Given the description of an element on the screen output the (x, y) to click on. 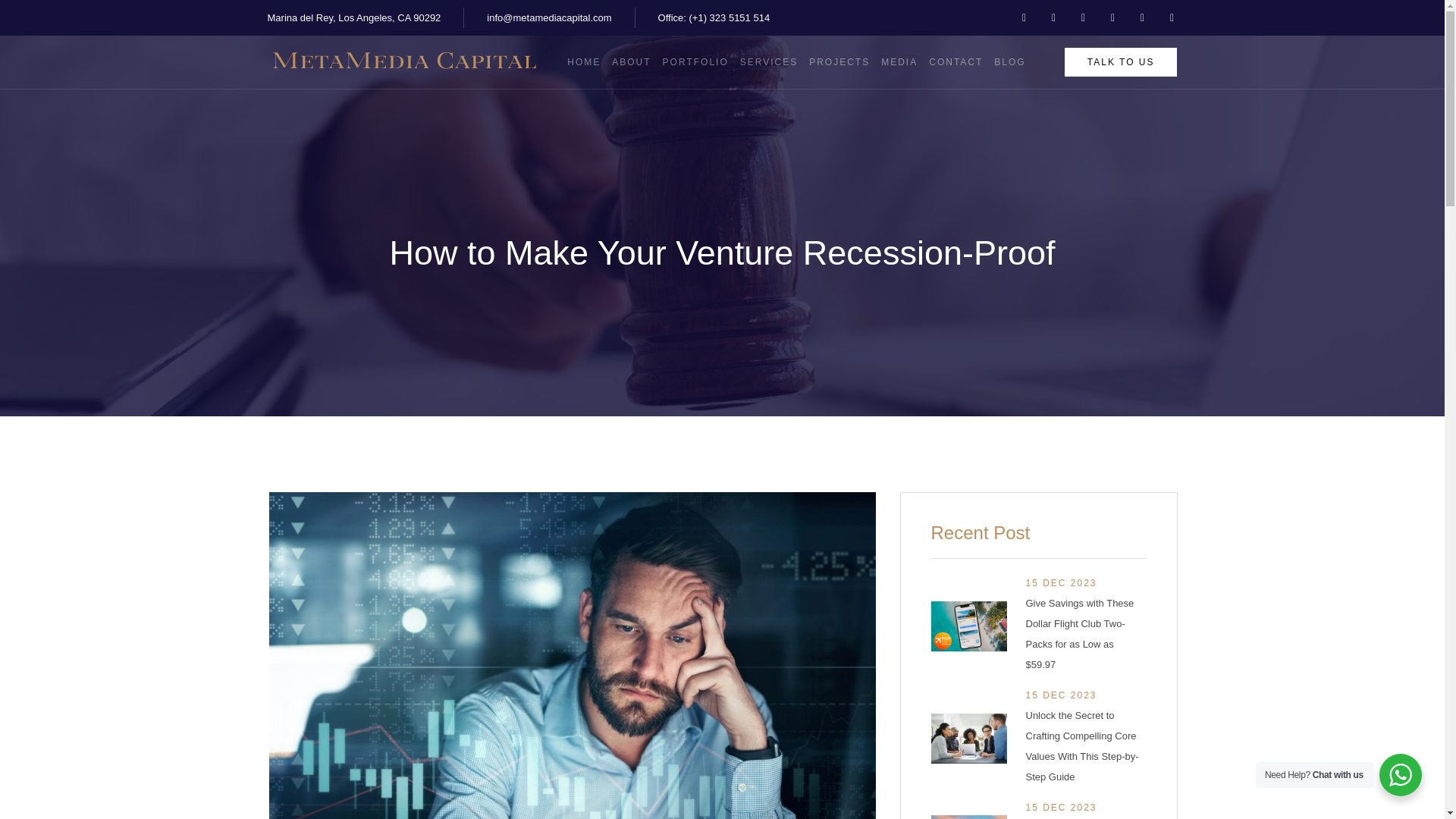
Marina del Rey, Los Angeles, CA 90292 (353, 17)
ABOUT (624, 62)
TALK TO US (1120, 61)
TALK TO US (1120, 61)
CONTACT (949, 62)
How to Make Your Venture Recession-Proof (721, 252)
SERVICES (763, 62)
Recent Post (1039, 530)
